Given the description of an element on the screen output the (x, y) to click on. 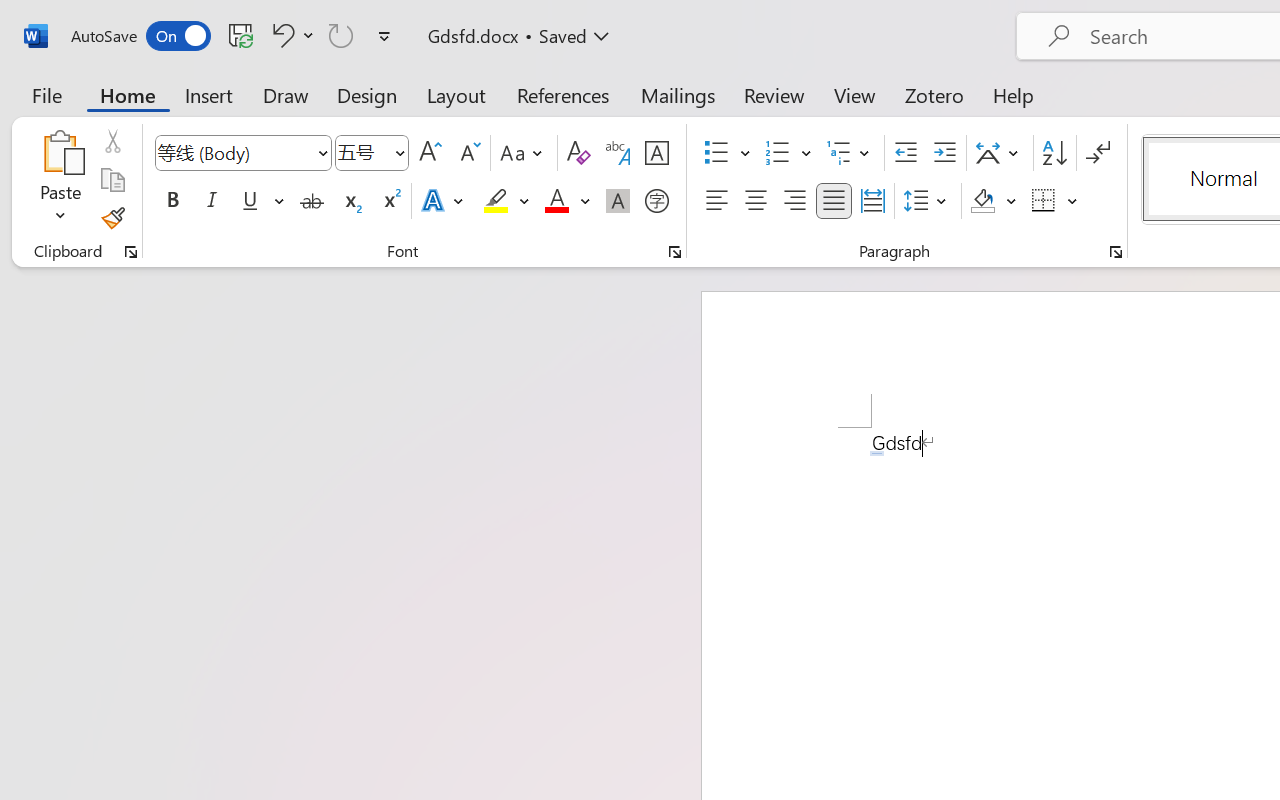
Sort... (1054, 153)
Bold (172, 201)
Text Effects and Typography (444, 201)
Justify (834, 201)
Character Shading (618, 201)
Copy (112, 179)
Action: Undo Auto Actions (877, 453)
